Given the description of an element on the screen output the (x, y) to click on. 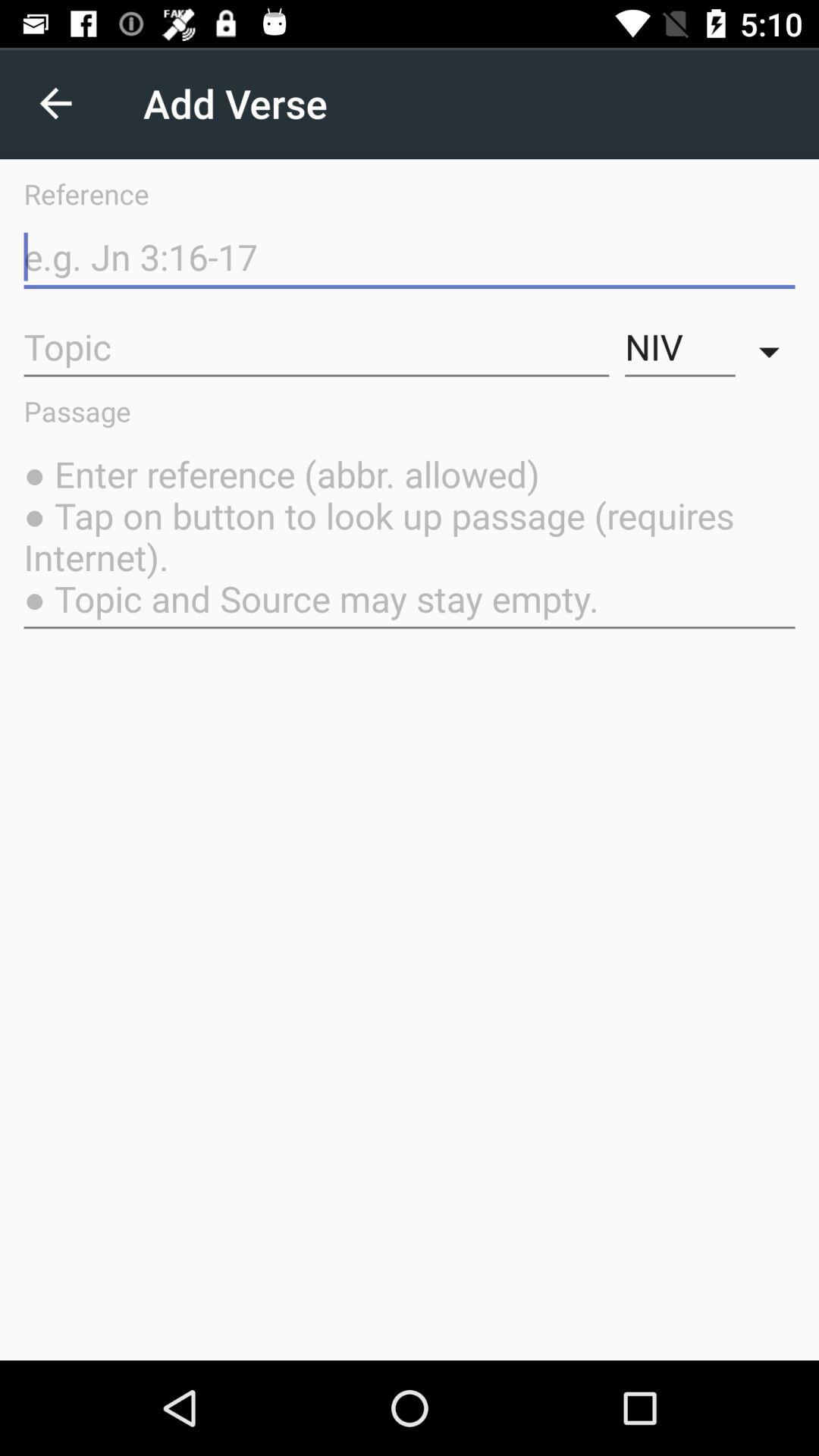
select the item to the left of niv icon (316, 347)
